Given the description of an element on the screen output the (x, y) to click on. 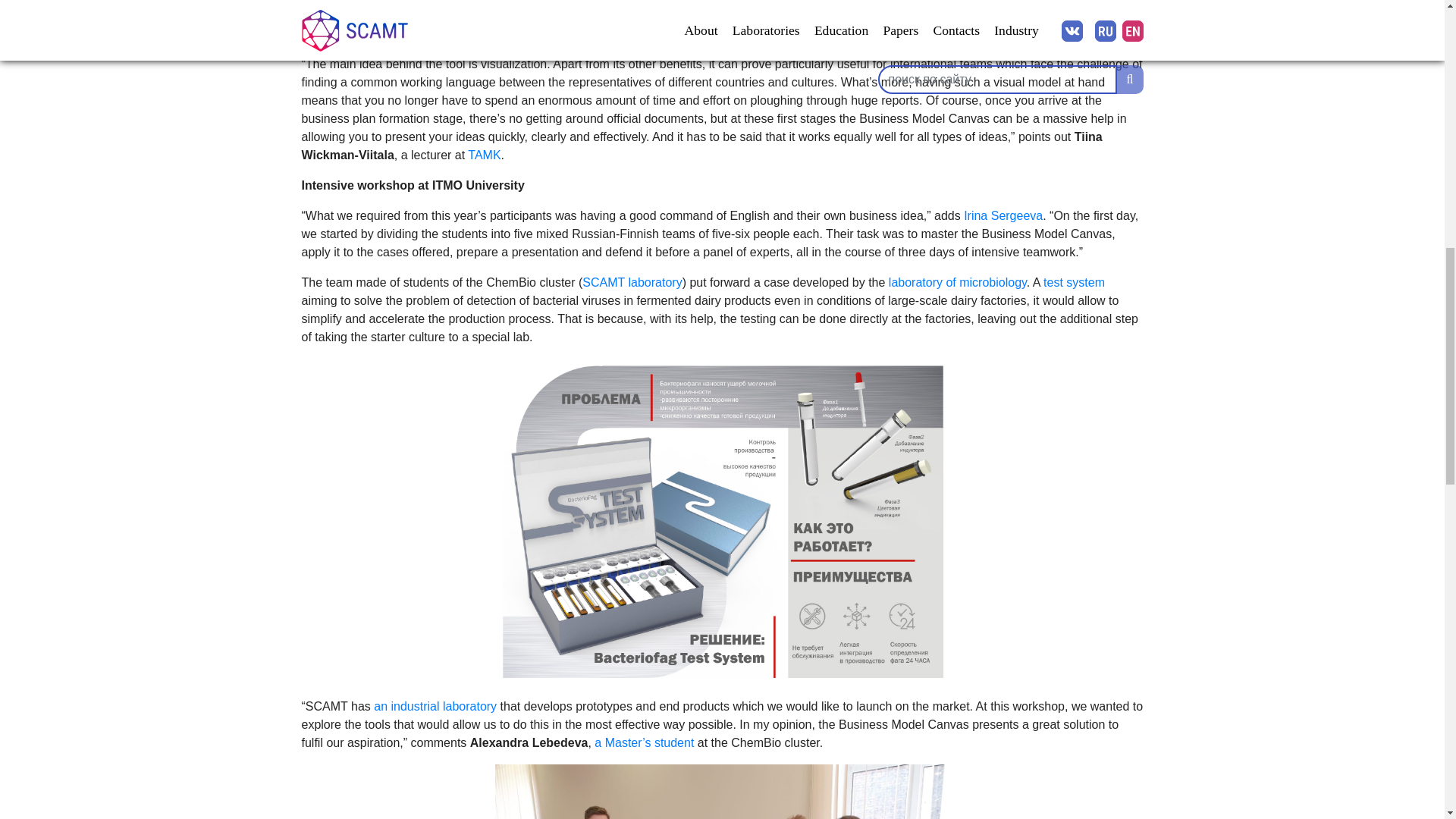
TAMK (483, 154)
Irina Sergeeva (1002, 215)
test system (1074, 282)
SCAMT laboratory (631, 282)
laboratory of microbiology (957, 282)
an industrial laboratory (435, 706)
